Given the description of an element on the screen output the (x, y) to click on. 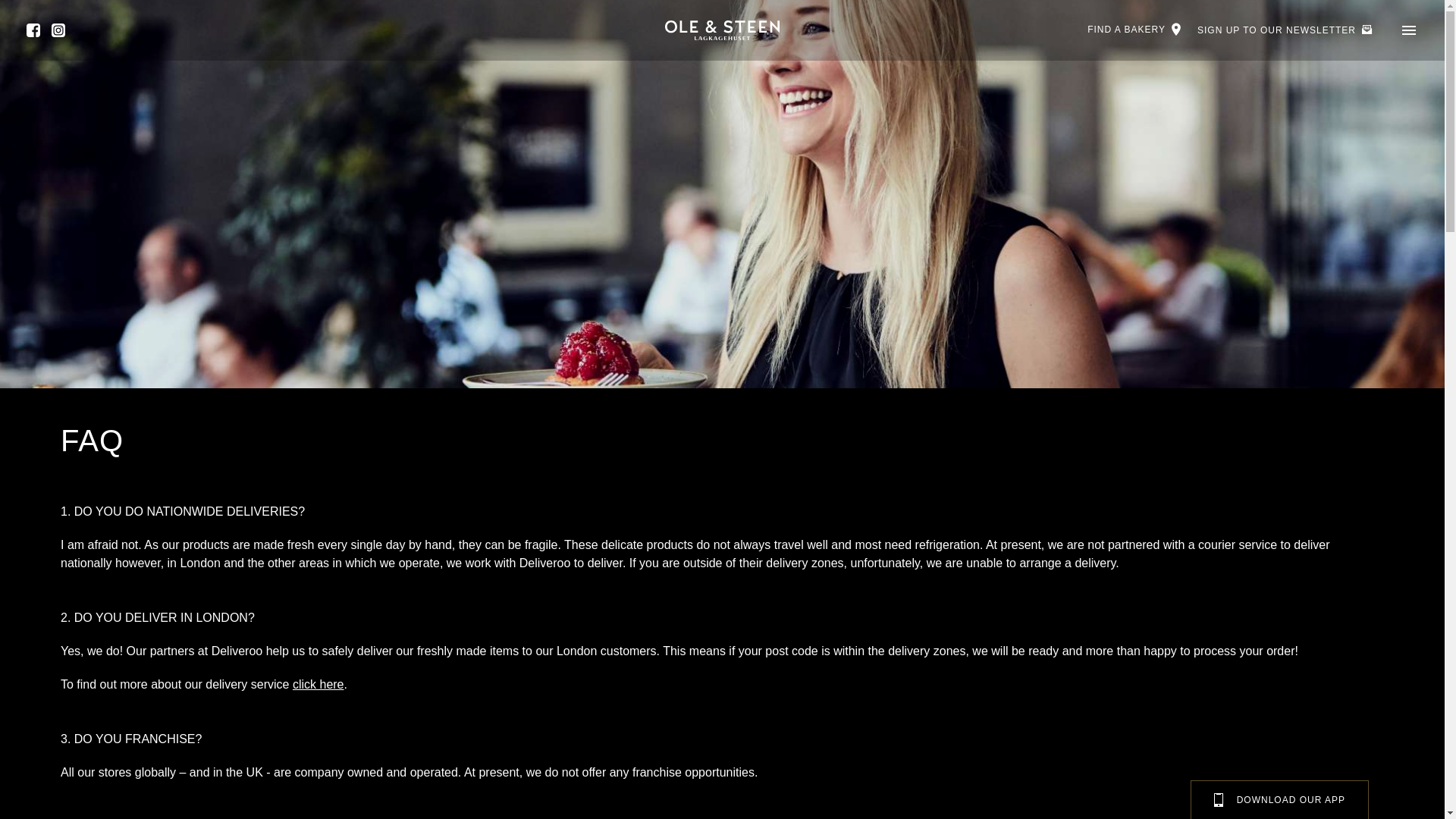
FIND A BAKERY (1133, 29)
Find An Open Bakery (1133, 29)
Instagram (57, 29)
click here (317, 684)
DOWNLOAD OUR APP (1279, 799)
SIGN UP TO OUR NEWSLETTER (1284, 30)
FRESHLY BAKED APP (1279, 799)
Facebook (33, 29)
Menu (1408, 29)
